Given the description of an element on the screen output the (x, y) to click on. 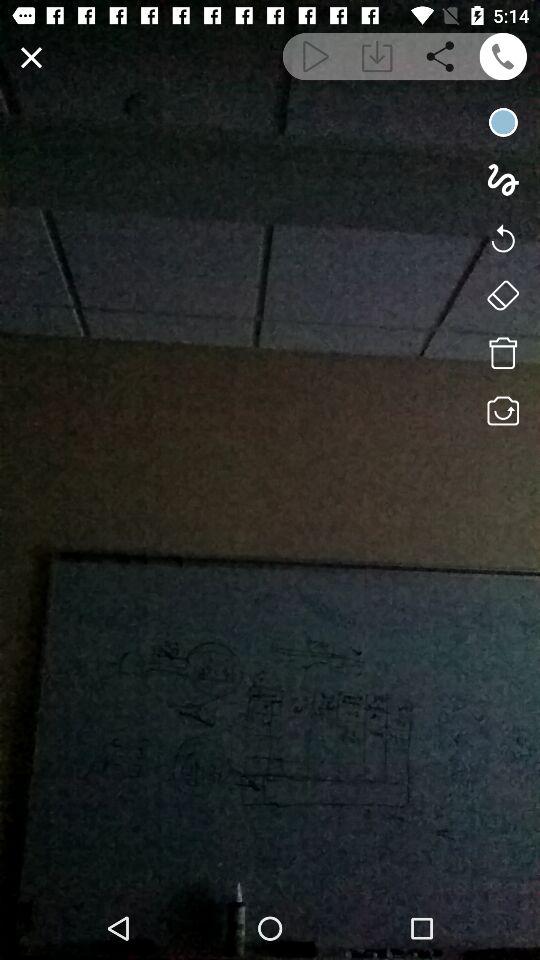
go back (502, 237)
